Given the description of an element on the screen output the (x, y) to click on. 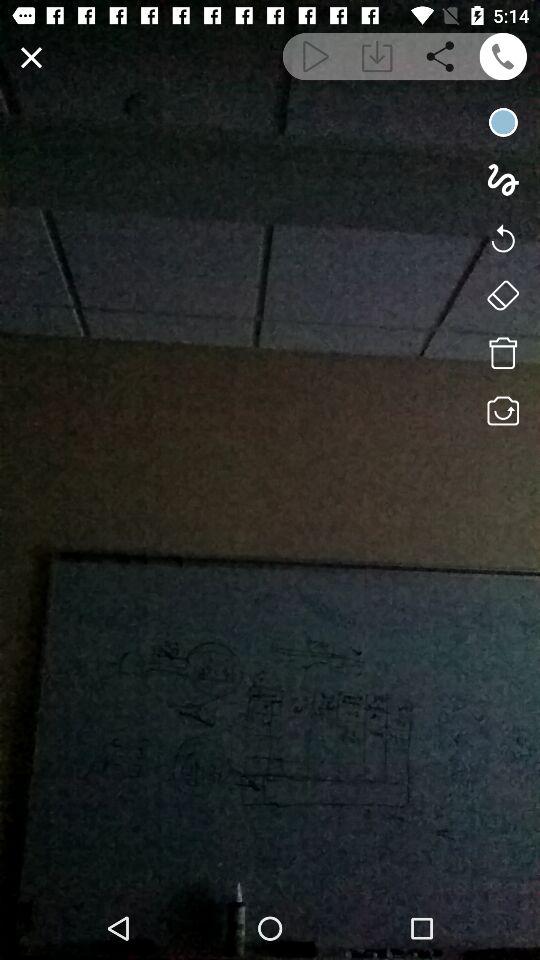
go back (502, 237)
